Given the description of an element on the screen output the (x, y) to click on. 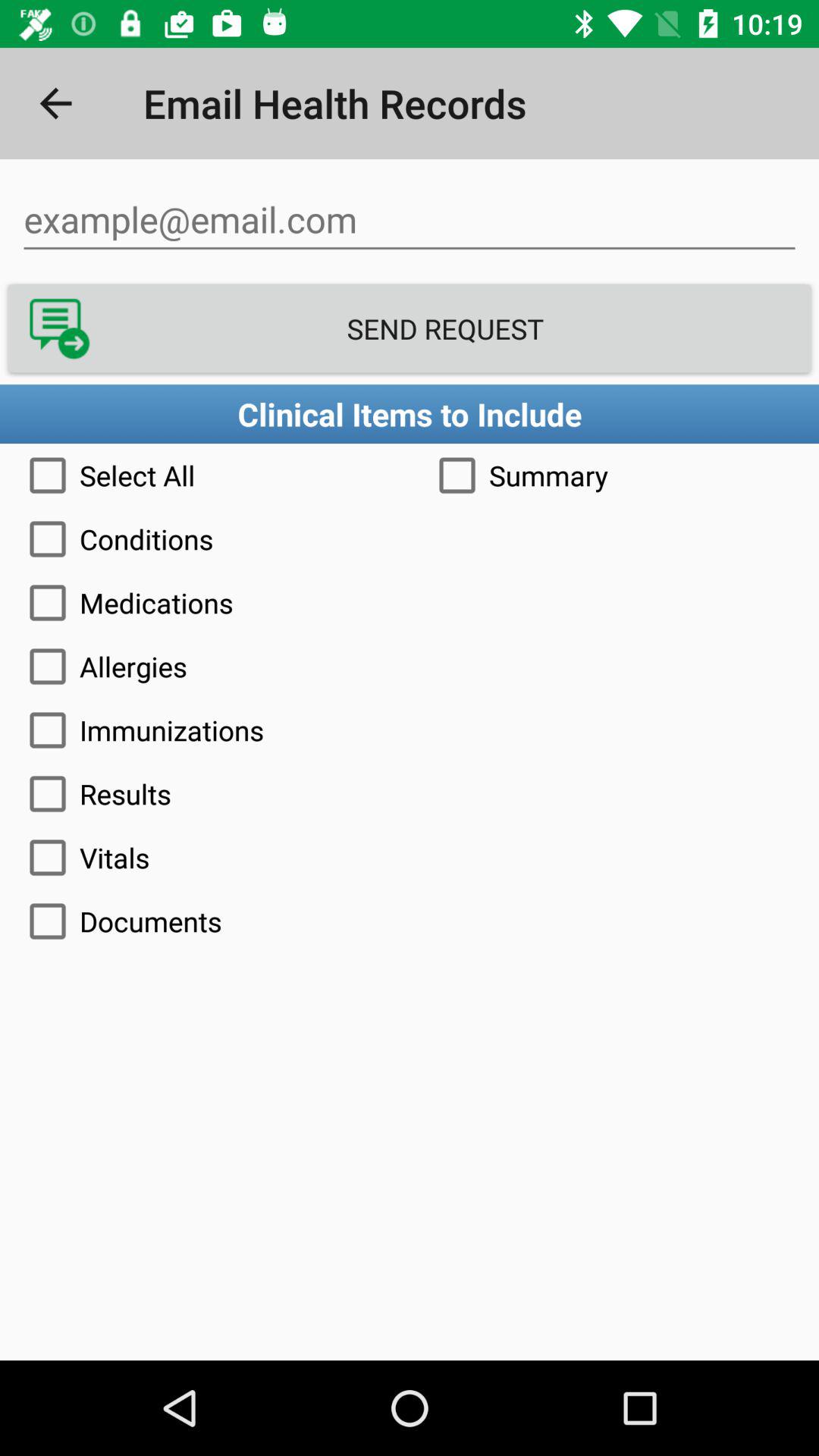
select the item to the right of the select all item (614, 475)
